Given the description of an element on the screen output the (x, y) to click on. 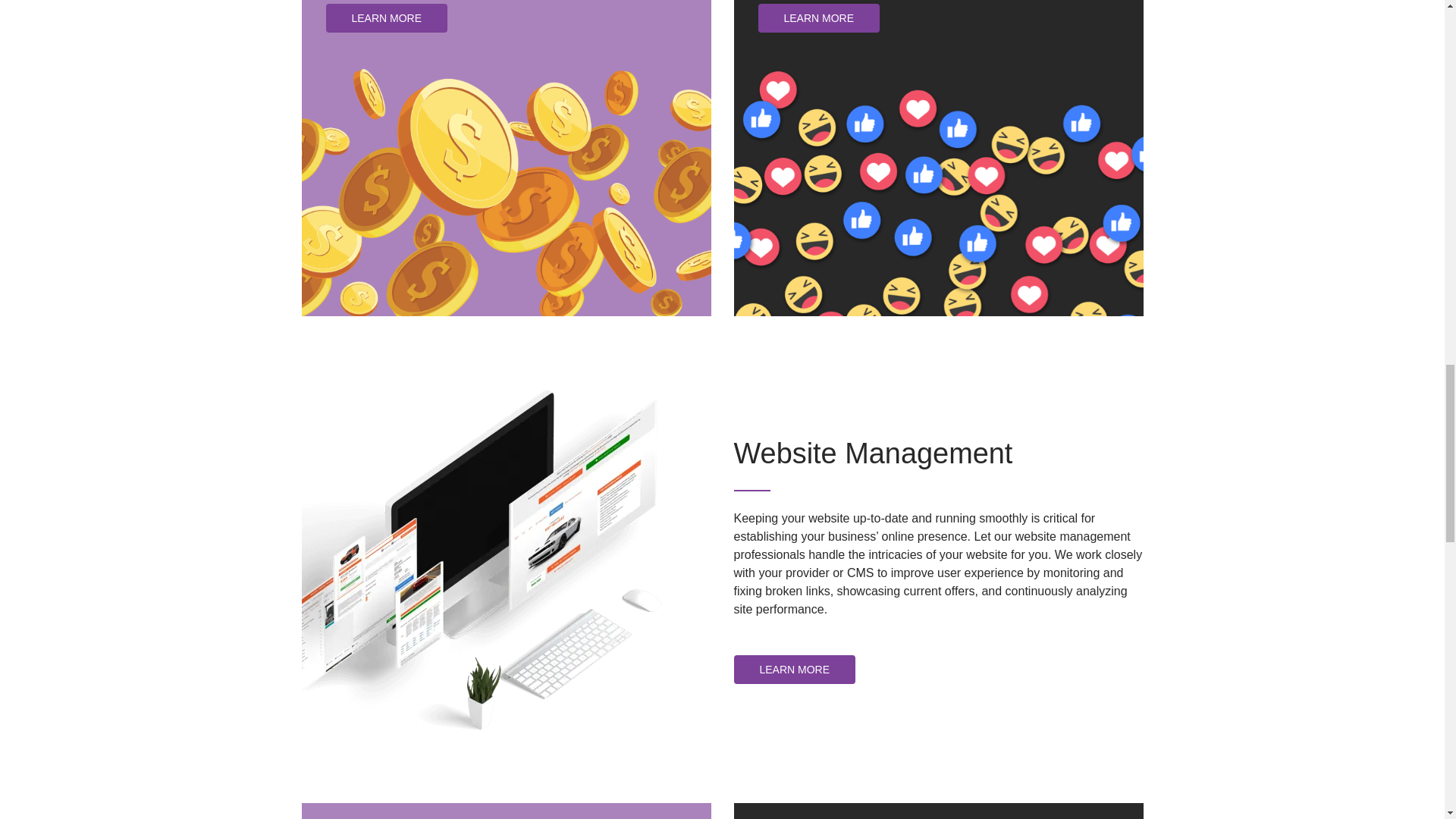
LEARN MORE (794, 669)
LEARN MORE (819, 18)
LEARN MORE (387, 18)
